Given the description of an element on the screen output the (x, y) to click on. 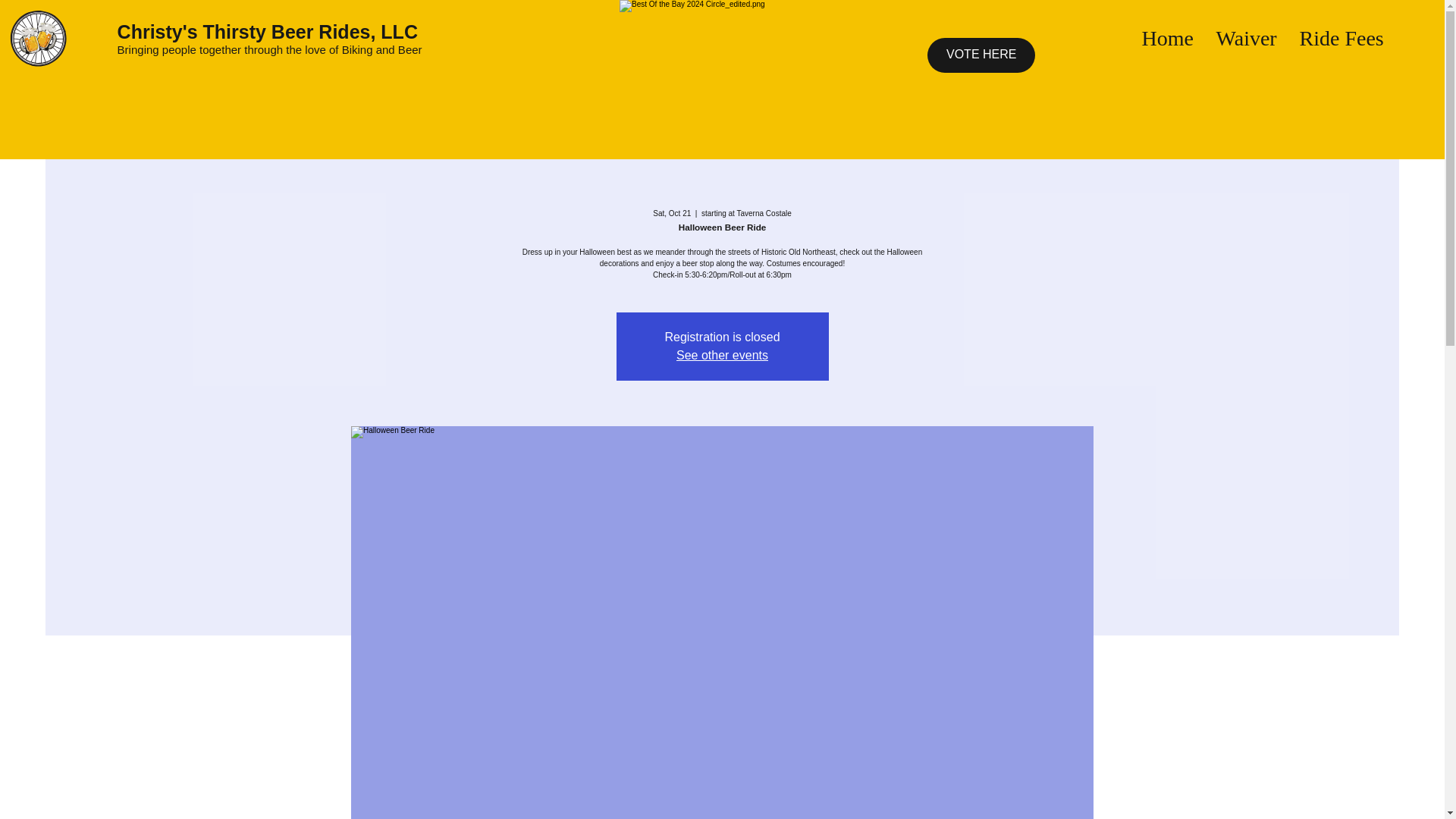
VOTE HERE (981, 54)
Waiver (1246, 38)
Home (1168, 38)
See other events (722, 354)
Ride Fees (1341, 38)
